Given the description of an element on the screen output the (x, y) to click on. 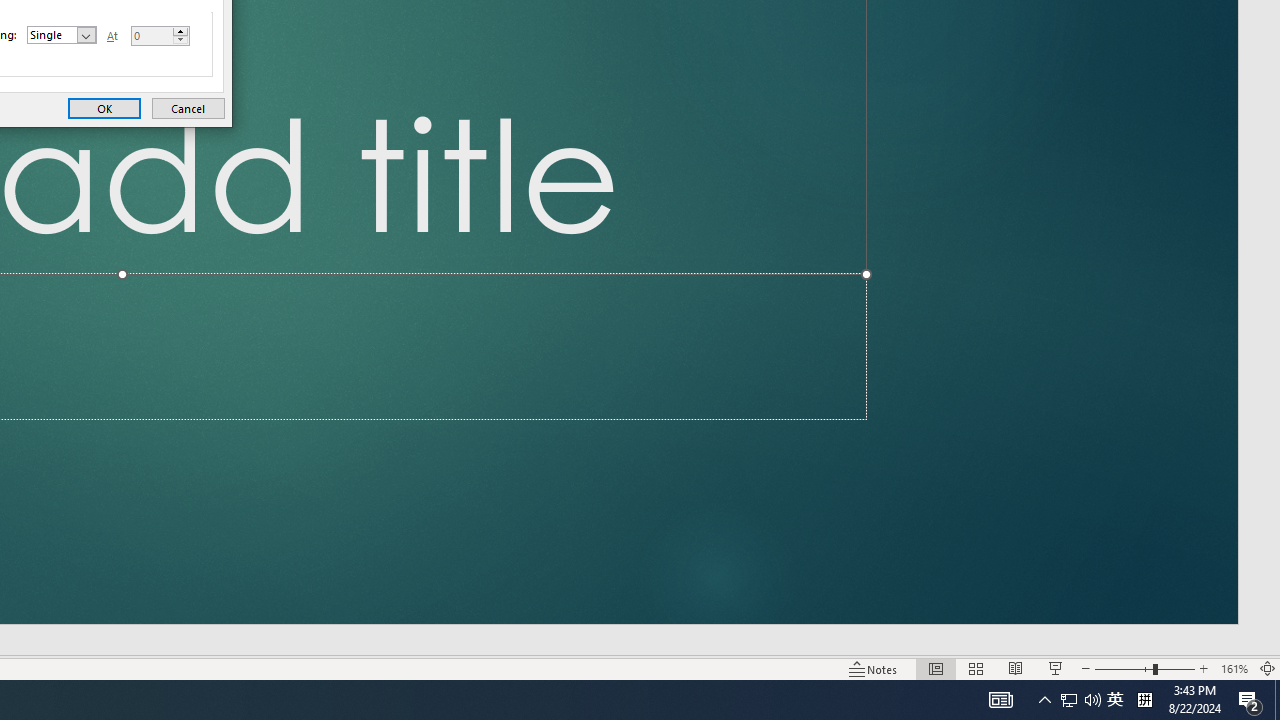
At (151, 35)
Show desktop (1277, 699)
Line Spacing (61, 34)
Action Center, 2 new notifications (1250, 699)
Q2790: 100% (1092, 699)
Notification Chevron (1044, 699)
